Given the description of an element on the screen output the (x, y) to click on. 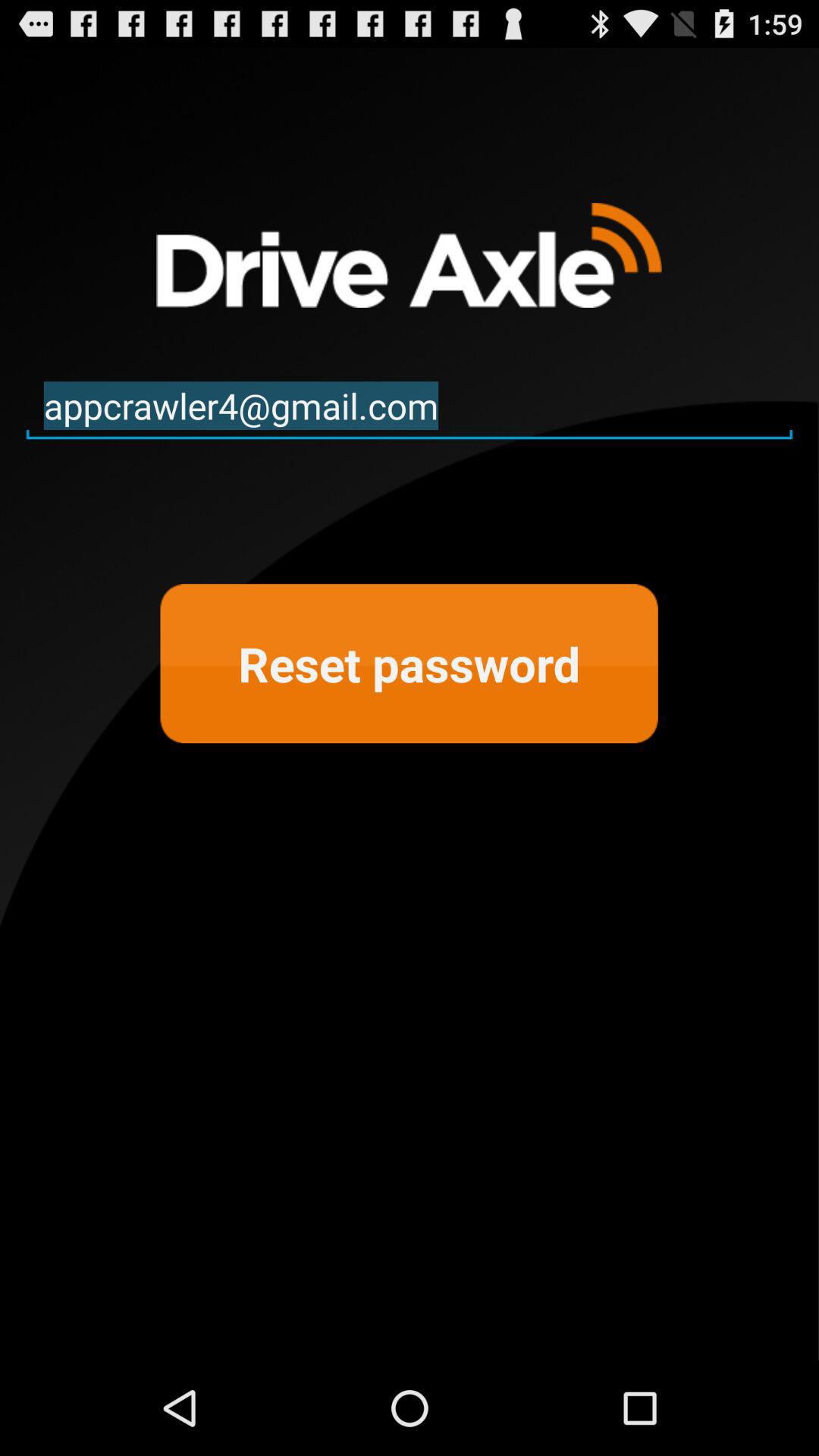
tap the icon below appcrawler4@gmail.com icon (409, 663)
